Given the description of an element on the screen output the (x, y) to click on. 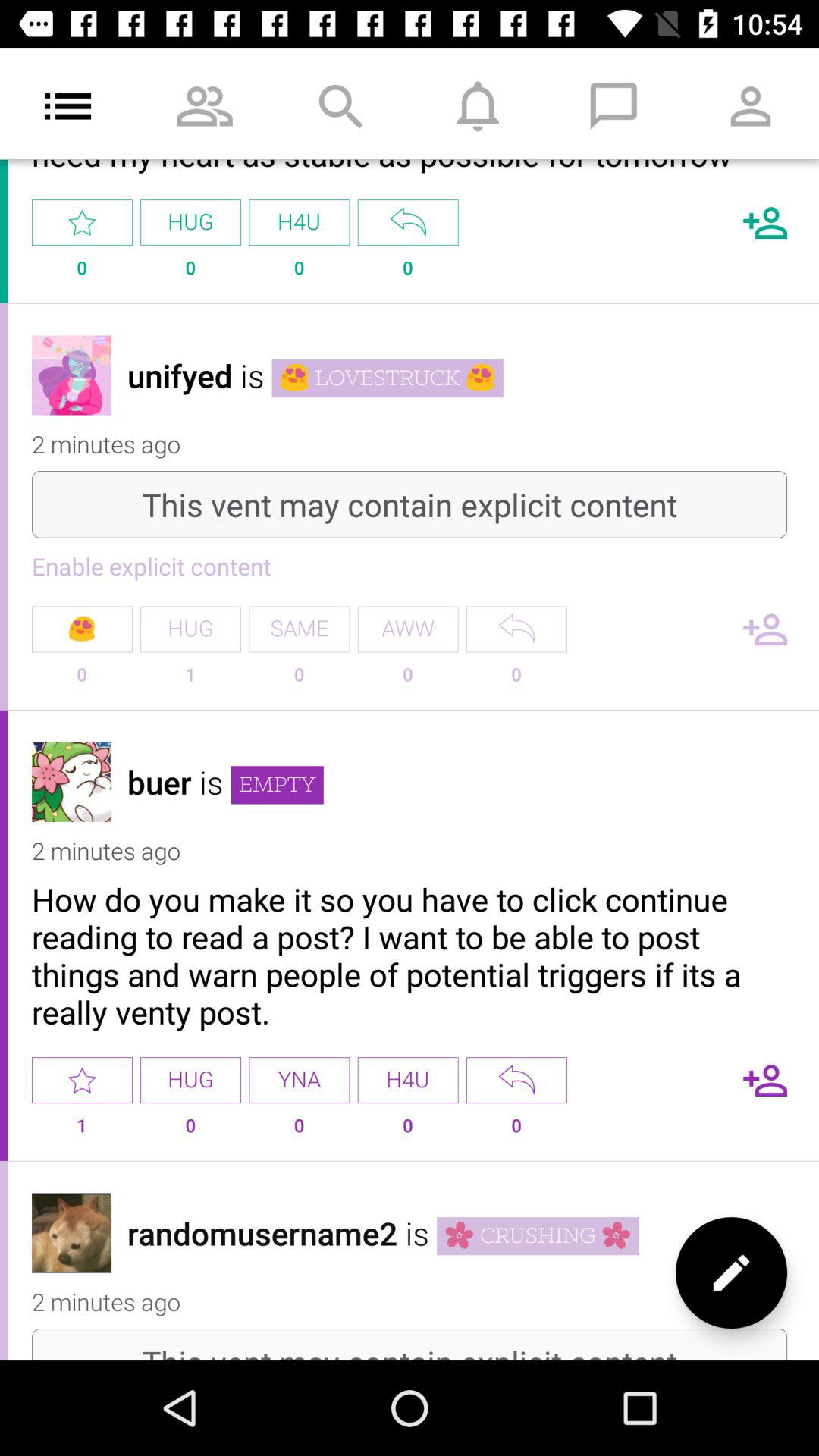
go back (407, 222)
